Given the description of an element on the screen output the (x, y) to click on. 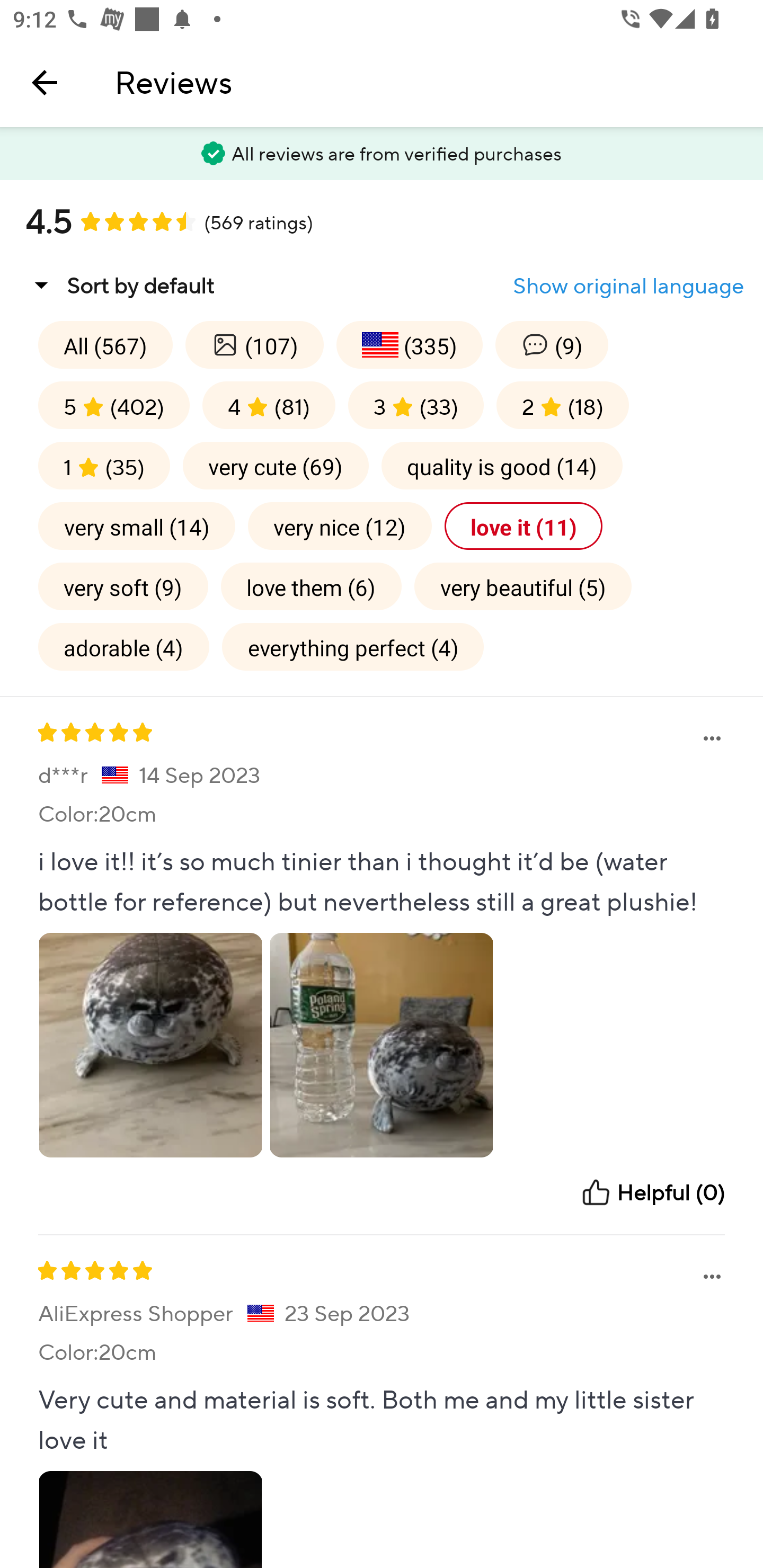
Navigate up (44, 82)
Sort by default (119, 285)
Show original language (627, 285)
All (567) (105, 344)
 (107) (254, 344)
 (335) (409, 344)
 (9) (551, 344)
5 (402) (113, 405)
4 (81) (268, 405)
3 (33) (415, 405)
2 (18) (562, 405)
1 (35) (104, 465)
very cute (69) (275, 465)
quality is good (14) (501, 465)
very small (14) (136, 525)
very nice (12) (339, 525)
love it (11) (523, 525)
very soft (9) (123, 585)
love them (6) (311, 585)
very beautiful (5) (522, 585)
adorable (4) (123, 646)
everything perfect (4) (352, 646)
Helpful (0) (651, 1192)
